Given the description of an element on the screen output the (x, y) to click on. 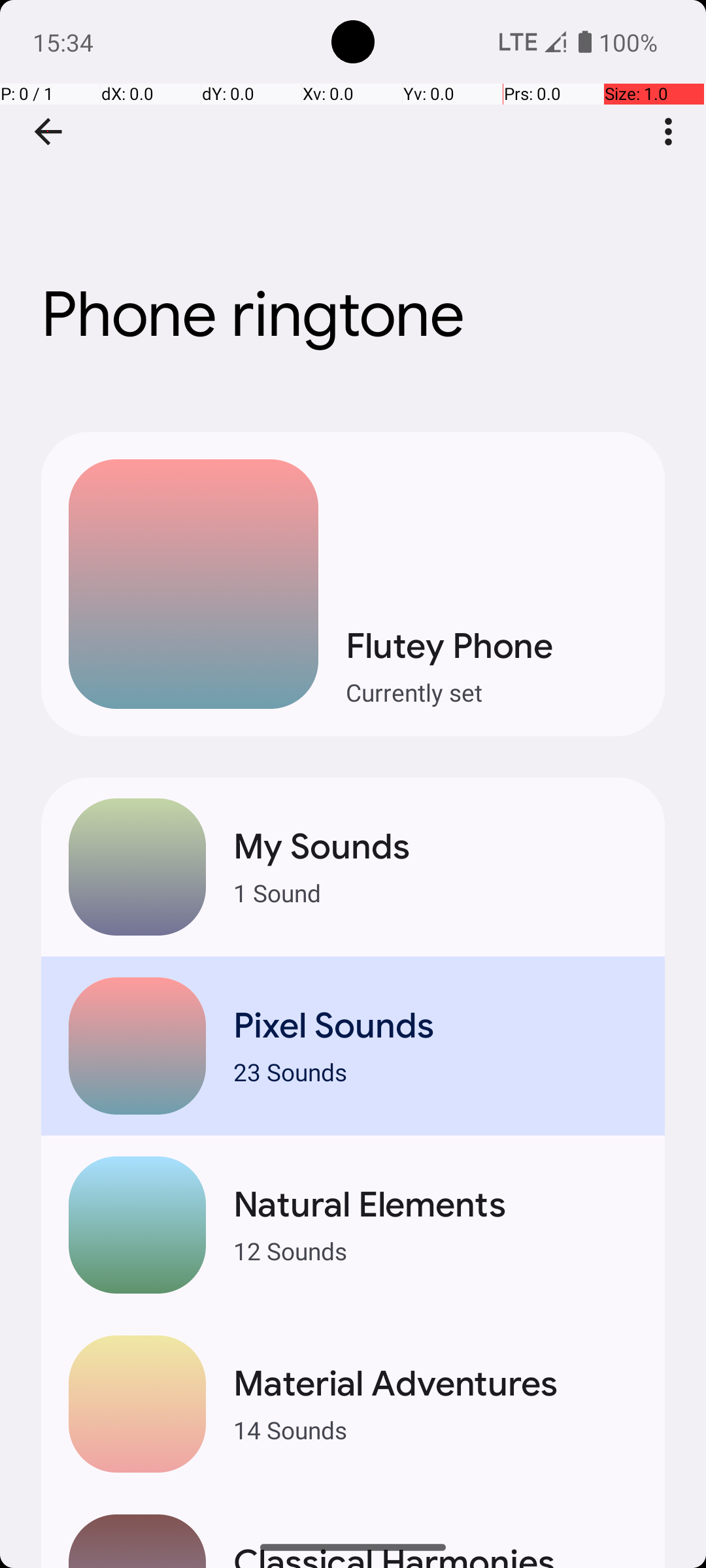
Currently set Element type: android.widget.TextView (491, 691)
My Sounds Element type: android.widget.TextView (435, 846)
1 Sound Element type: android.widget.TextView (435, 892)
Pixel Sounds Element type: android.widget.TextView (435, 1025)
23 Sounds Element type: android.widget.TextView (435, 1071)
Natural Elements Element type: android.widget.TextView (435, 1204)
Material Adventures Element type: android.widget.TextView (435, 1383)
14 Sounds Element type: android.widget.TextView (435, 1429)
